Given the description of an element on the screen output the (x, y) to click on. 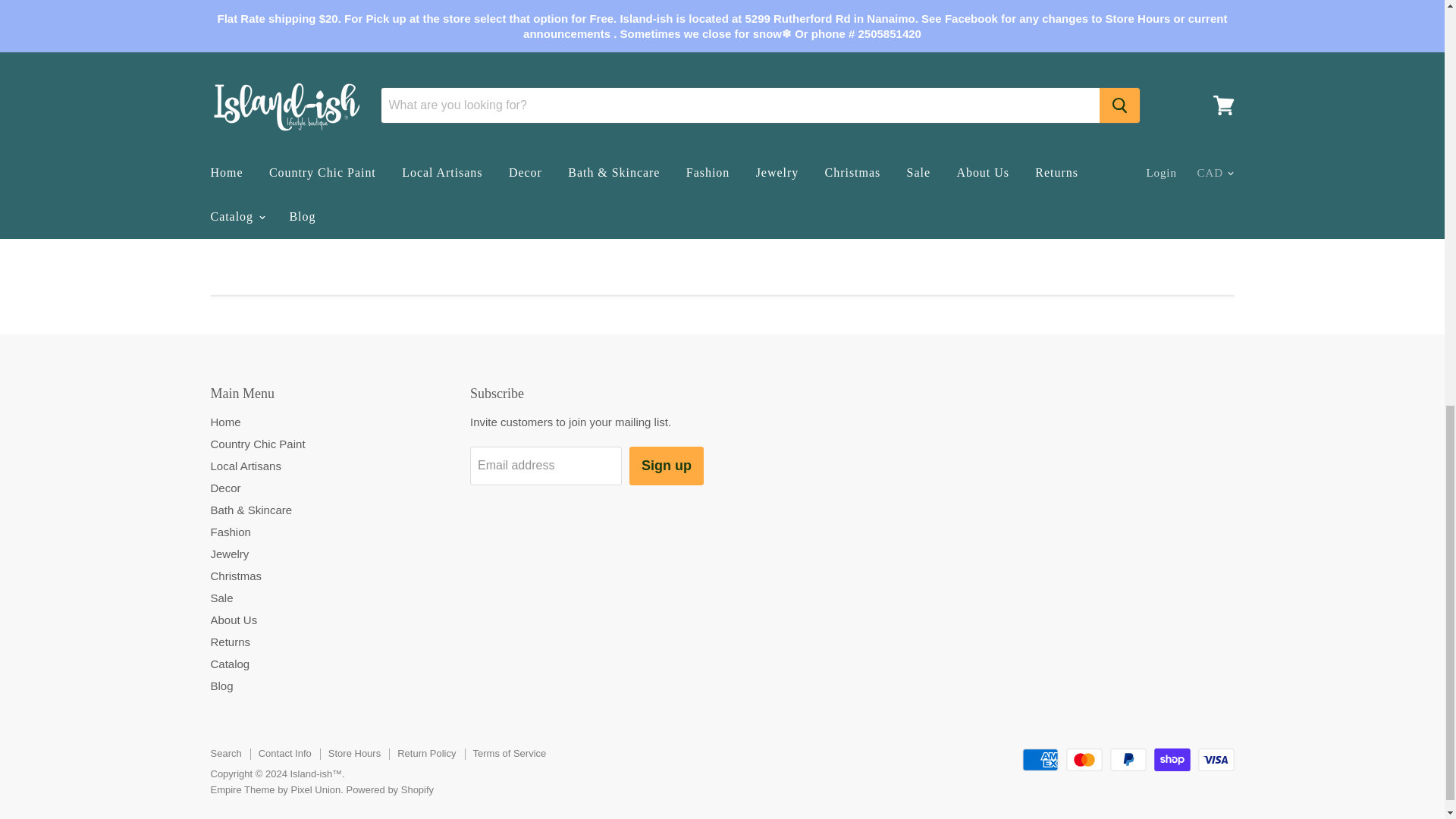
Mastercard (1083, 759)
American Express (1040, 759)
Shop Pay (1172, 759)
PayPal (1128, 759)
Visa (1216, 759)
